Given the description of an element on the screen output the (x, y) to click on. 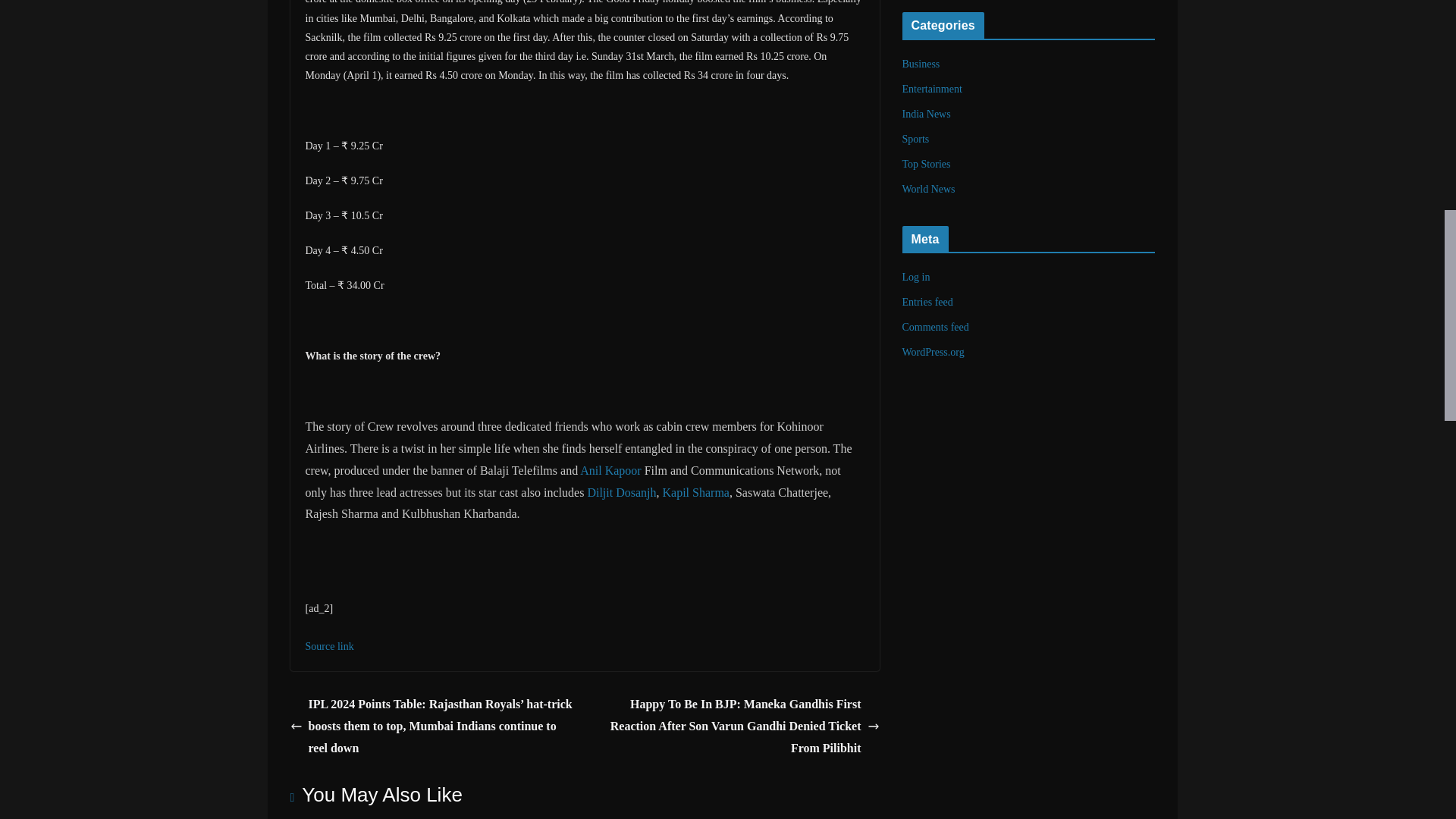
Anil Kapoor (609, 470)
Source link (328, 645)
Diljit Dosanjh (621, 491)
Kapil Sharma (695, 491)
